Given the description of an element on the screen output the (x, y) to click on. 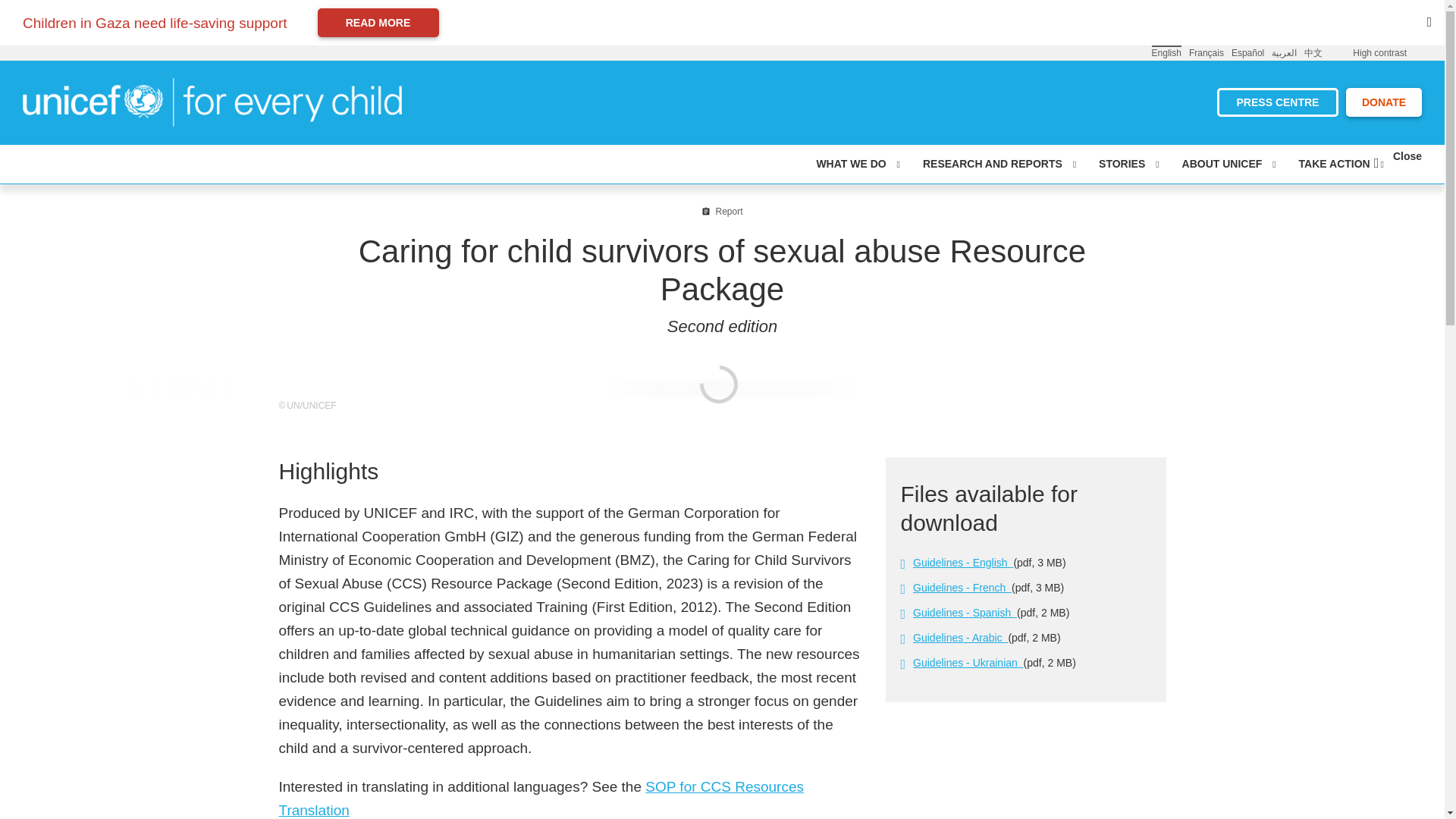
WHAT WE DO (857, 163)
English (1165, 51)
UNICEF (212, 100)
DONATE (1383, 102)
READ MORE (378, 22)
PRESS CENTRE (1277, 102)
High contrast (1379, 52)
